Given the description of an element on the screen output the (x, y) to click on. 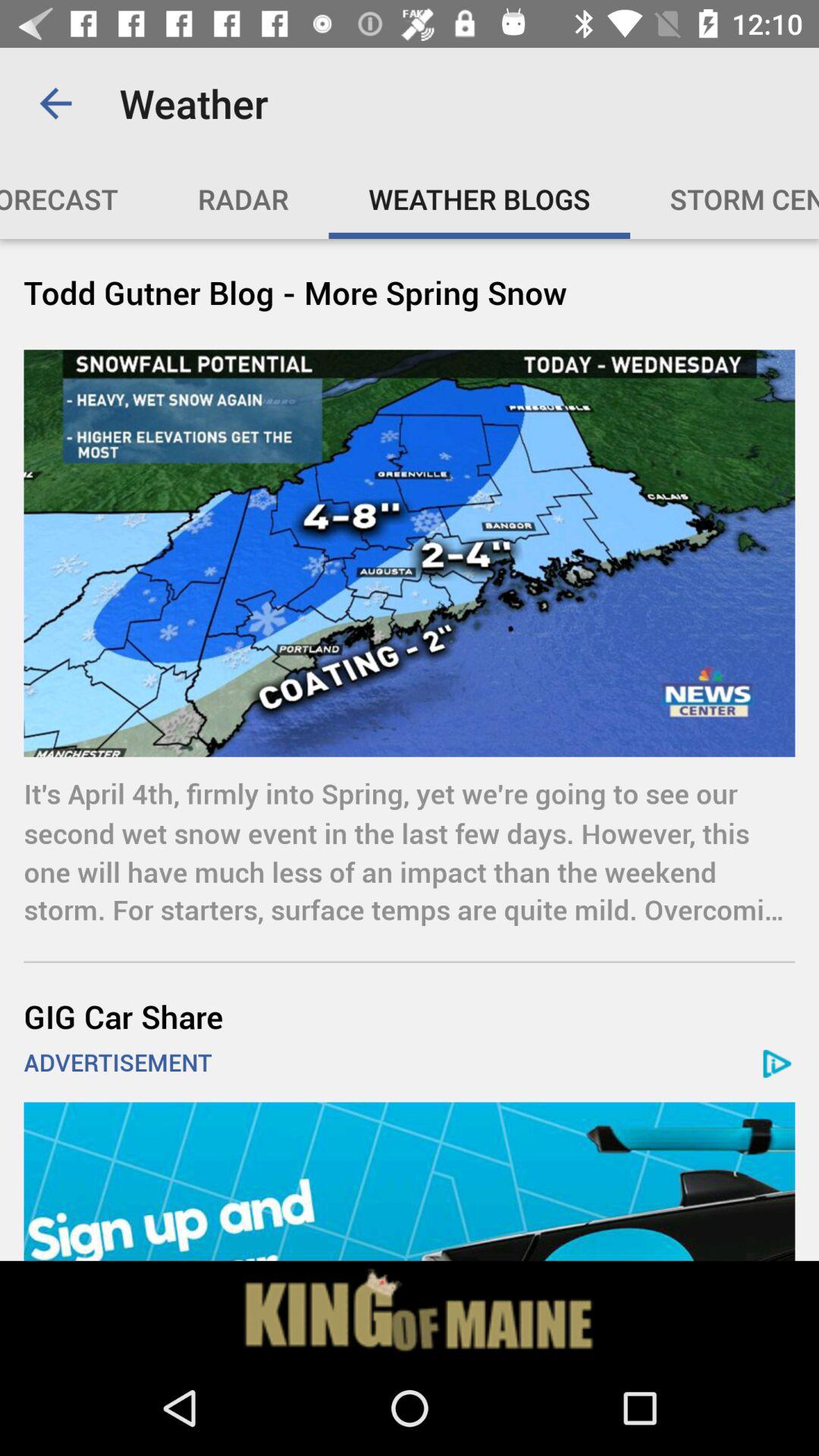
click icon next to weather (55, 103)
